Given the description of an element on the screen output the (x, y) to click on. 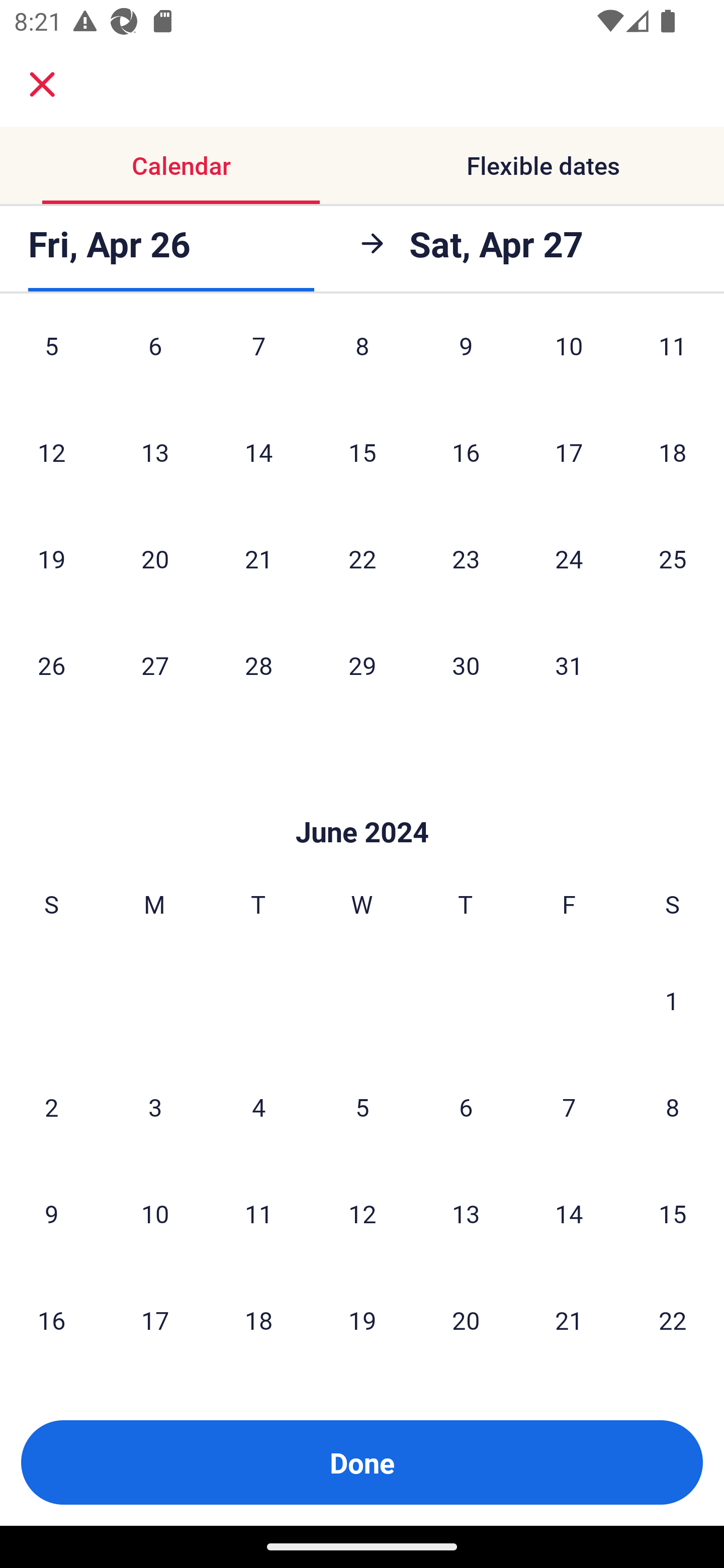
close. (42, 84)
Flexible dates (542, 164)
5 Sunday, May 5, 2024 (51, 358)
6 Monday, May 6, 2024 (155, 358)
7 Tuesday, May 7, 2024 (258, 358)
8 Wednesday, May 8, 2024 (362, 358)
9 Thursday, May 9, 2024 (465, 358)
10 Friday, May 10, 2024 (569, 358)
11 Saturday, May 11, 2024 (672, 358)
12 Sunday, May 12, 2024 (51, 451)
13 Monday, May 13, 2024 (155, 451)
14 Tuesday, May 14, 2024 (258, 451)
15 Wednesday, May 15, 2024 (362, 451)
16 Thursday, May 16, 2024 (465, 451)
17 Friday, May 17, 2024 (569, 451)
18 Saturday, May 18, 2024 (672, 451)
19 Sunday, May 19, 2024 (51, 557)
20 Monday, May 20, 2024 (155, 557)
21 Tuesday, May 21, 2024 (258, 557)
22 Wednesday, May 22, 2024 (362, 557)
23 Thursday, May 23, 2024 (465, 557)
24 Friday, May 24, 2024 (569, 557)
25 Saturday, May 25, 2024 (672, 557)
26 Sunday, May 26, 2024 (51, 664)
27 Monday, May 27, 2024 (155, 664)
28 Tuesday, May 28, 2024 (258, 664)
29 Wednesday, May 29, 2024 (362, 664)
30 Thursday, May 30, 2024 (465, 664)
31 Friday, May 31, 2024 (569, 664)
Skip to Done (362, 801)
1 Saturday, June 1, 2024 (672, 1000)
2 Sunday, June 2, 2024 (51, 1106)
3 Monday, June 3, 2024 (155, 1106)
4 Tuesday, June 4, 2024 (258, 1106)
5 Wednesday, June 5, 2024 (362, 1106)
6 Thursday, June 6, 2024 (465, 1106)
7 Friday, June 7, 2024 (569, 1106)
8 Saturday, June 8, 2024 (672, 1106)
9 Sunday, June 9, 2024 (51, 1213)
10 Monday, June 10, 2024 (155, 1213)
11 Tuesday, June 11, 2024 (258, 1213)
12 Wednesday, June 12, 2024 (362, 1213)
13 Thursday, June 13, 2024 (465, 1213)
14 Friday, June 14, 2024 (569, 1213)
15 Saturday, June 15, 2024 (672, 1213)
16 Sunday, June 16, 2024 (51, 1320)
17 Monday, June 17, 2024 (155, 1320)
18 Tuesday, June 18, 2024 (258, 1320)
19 Wednesday, June 19, 2024 (362, 1320)
20 Thursday, June 20, 2024 (465, 1320)
21 Friday, June 21, 2024 (569, 1320)
22 Saturday, June 22, 2024 (672, 1320)
Done (361, 1462)
